Given the description of an element on the screen output the (x, y) to click on. 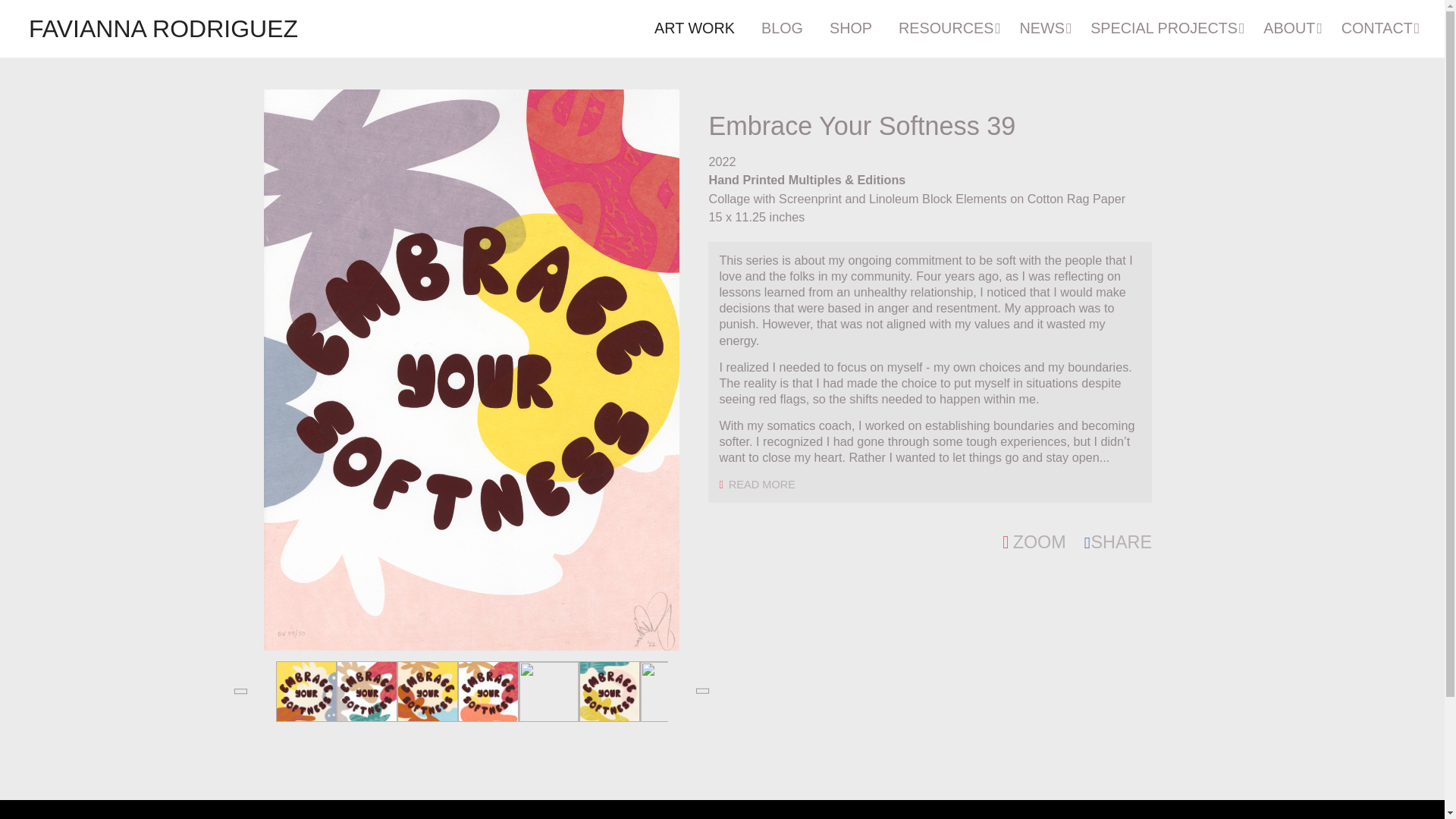
NEWS (1042, 28)
SPECIAL PROJECTS (1162, 28)
CONTACT (1376, 28)
ABOUT (1288, 28)
BLOG (781, 28)
SHOP (850, 28)
FAVIANNA RODRIGUEZ (163, 28)
RESOURCES (945, 28)
ART WORK (694, 28)
